Given the description of an element on the screen output the (x, y) to click on. 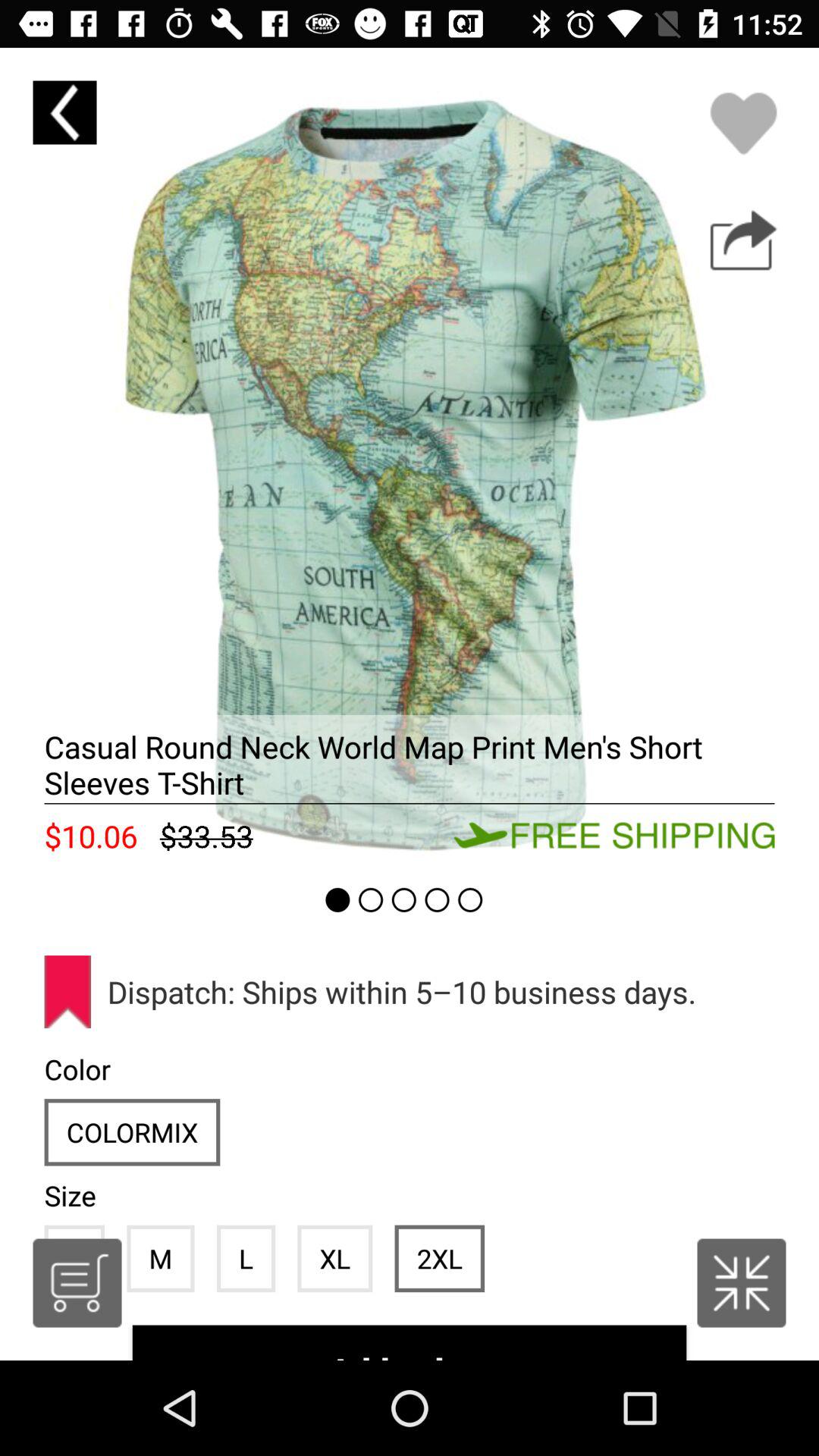
tap the icon above size item (132, 1131)
